Given the description of an element on the screen output the (x, y) to click on. 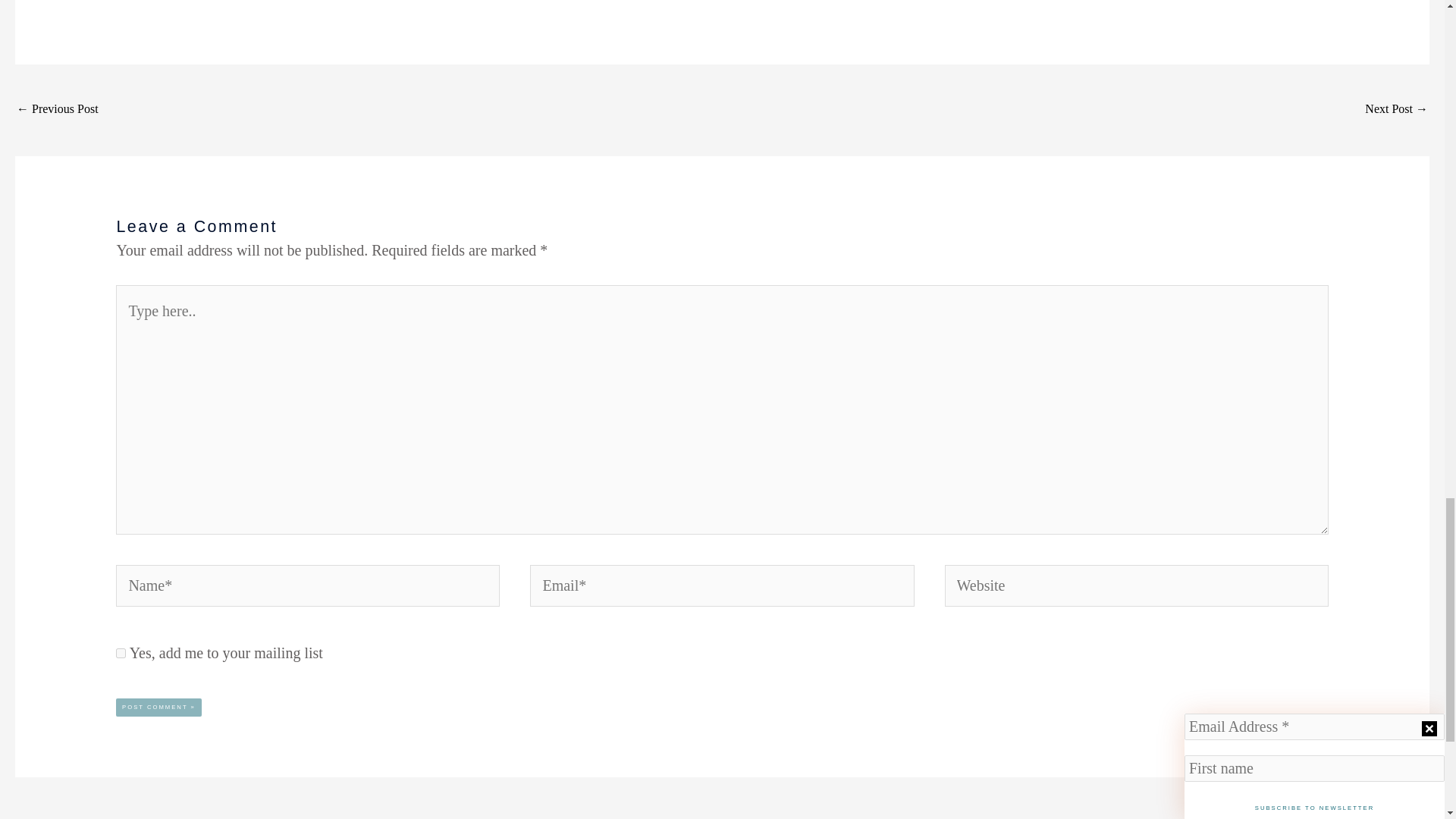
Allowance or Commissions (1396, 110)
Teaching Resourcefulness (57, 110)
1 (120, 653)
